Given the description of an element on the screen output the (x, y) to click on. 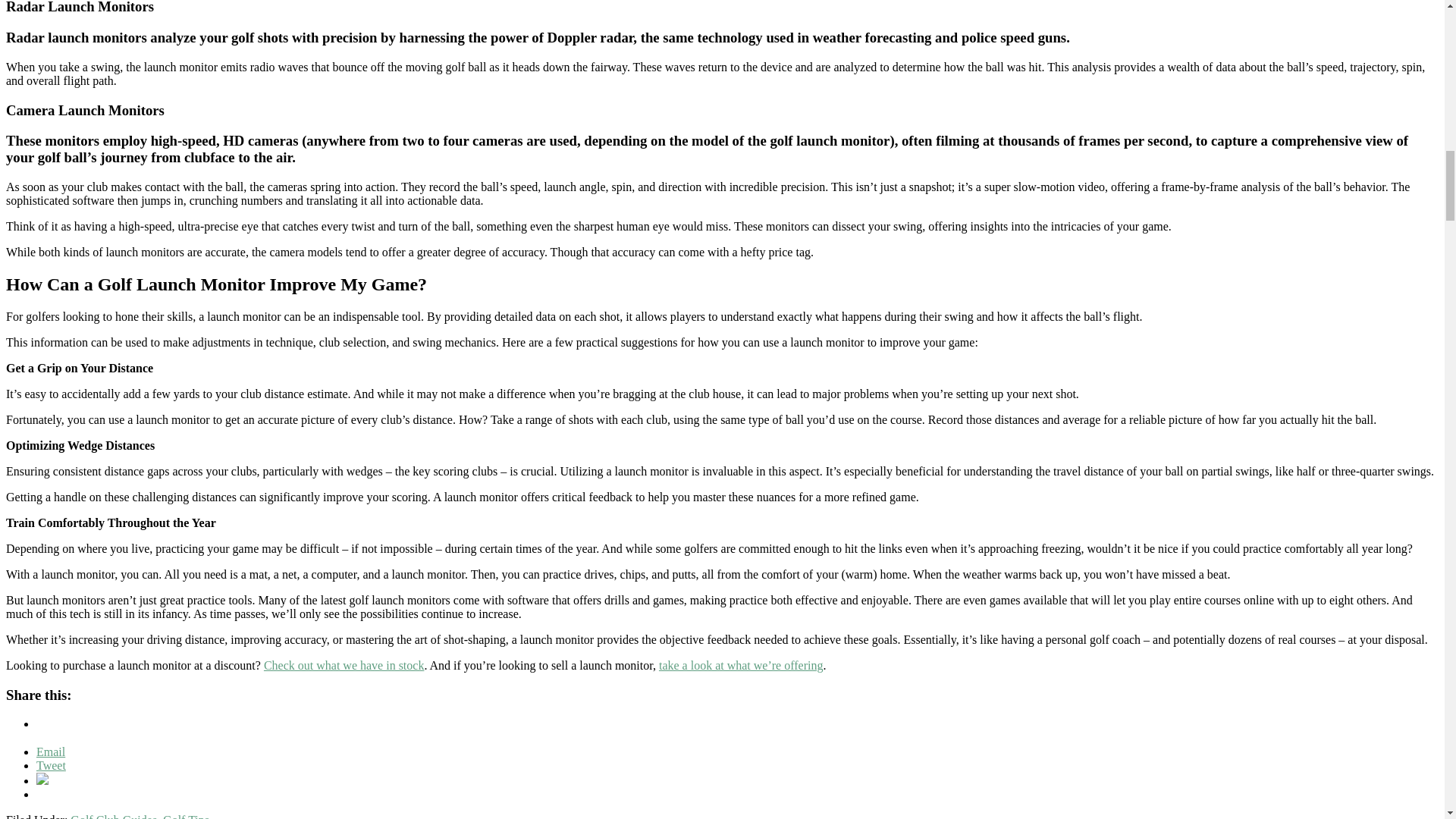
Golf Club Guides (113, 816)
Golf Tips (186, 816)
Email (50, 751)
Check out what we have in stock (344, 665)
Click to email this to a friend (50, 751)
Tweet (50, 765)
